Given the description of an element on the screen output the (x, y) to click on. 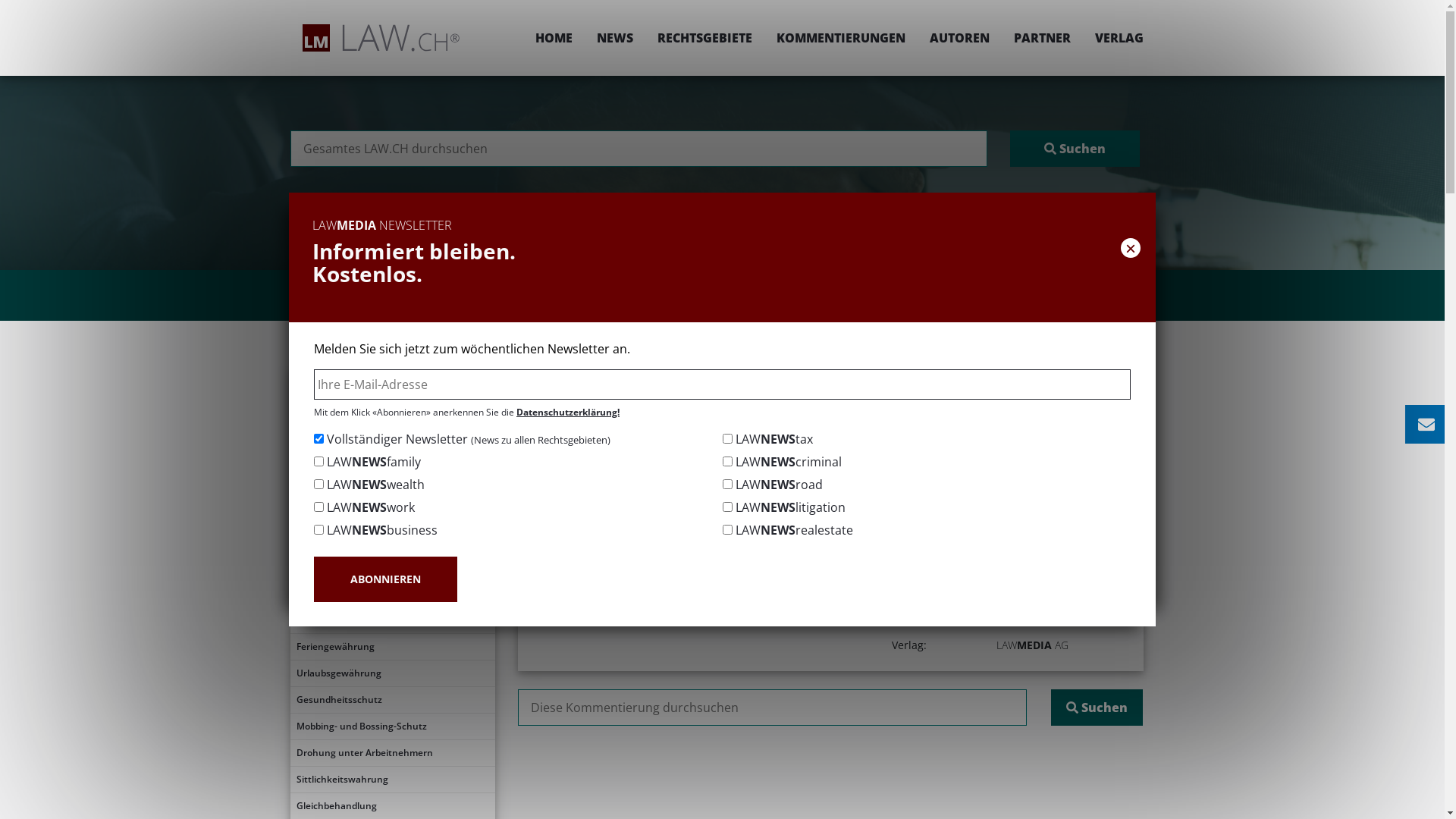
AUTOREN Element type: text (959, 37)
Rechtsgebiete Element type: text (697, 375)
 DRUCKEN / PDF Element type: text (1095, 426)
Gesetzliche Grundlage Element type: text (391, 460)
Abgrenzung Element type: text (391, 487)
Suchen nach: Element type: hover (771, 707)
Mobbing- und Bossing-Schutz Element type: text (391, 726)
Inhaltsverzeichnis Element type: text (391, 407)
Home Element type: text (628, 375)
Gesundheitsschutz Element type: text (391, 699)
 TEILEN Element type: text (989, 426)
Sittlichkeitswahrung Element type: text (391, 779)
HOME Element type: text (553, 37)
Begriff Element type: text (391, 434)
KOMMENTIERUNGEN Element type: text (840, 37)
Suchen nach: Element type: hover (637, 148)
ABONNIEREN Element type: text (385, 579)
PARTNER Element type: text (1041, 37)
NEWS Element type: text (613, 37)
RECHTSGEBIETE Element type: text (703, 37)
VERLAG Element type: text (1112, 37)
Drohung unter Arbeitnehmern Element type: text (391, 752)
